Given the description of an element on the screen output the (x, y) to click on. 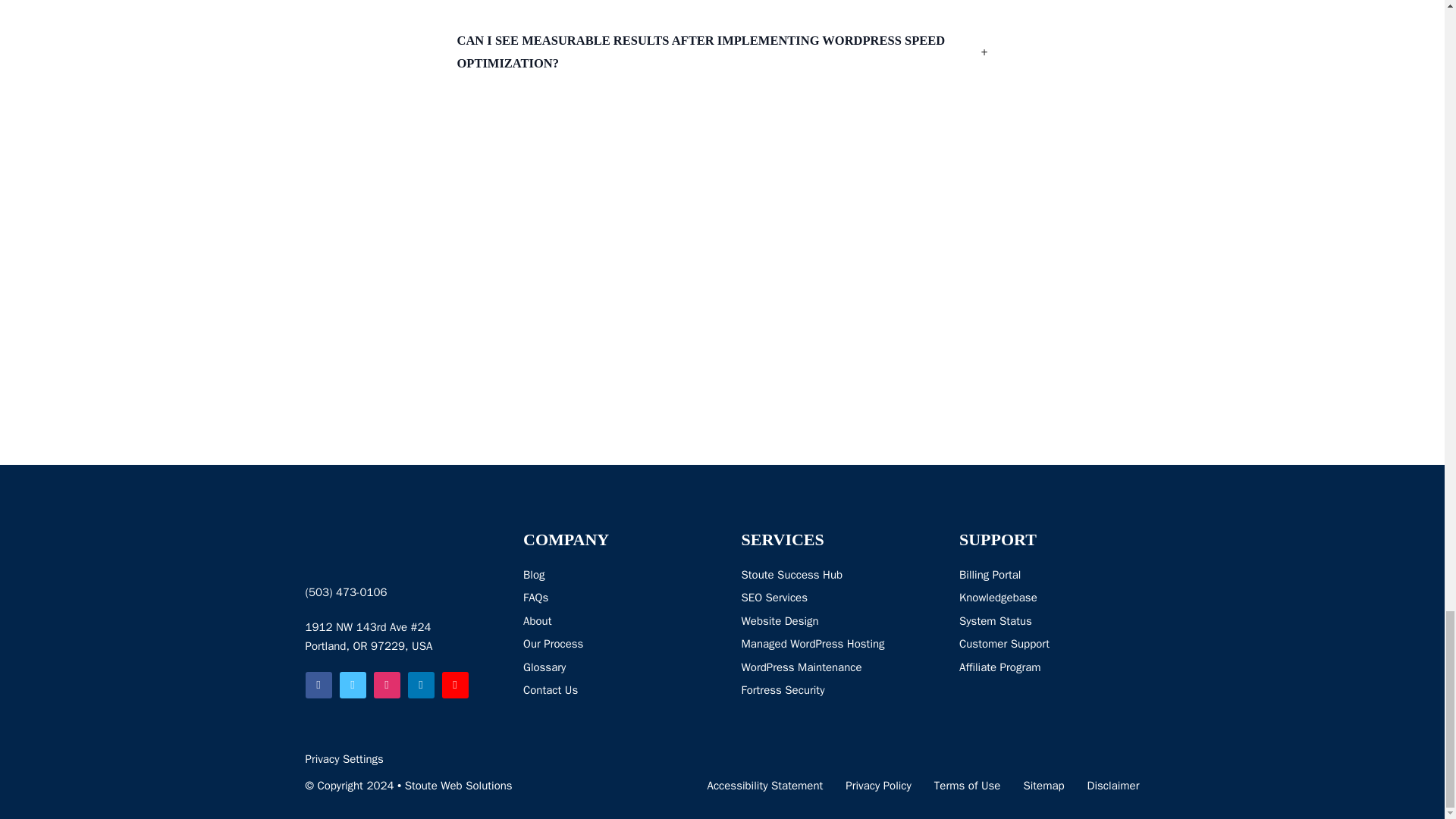
Glossary (552, 668)
Blog (552, 575)
About (552, 621)
Contact Us (552, 690)
Stoute Success Hub (813, 575)
Our Process (552, 644)
FAQs (552, 598)
